Given the description of an element on the screen output the (x, y) to click on. 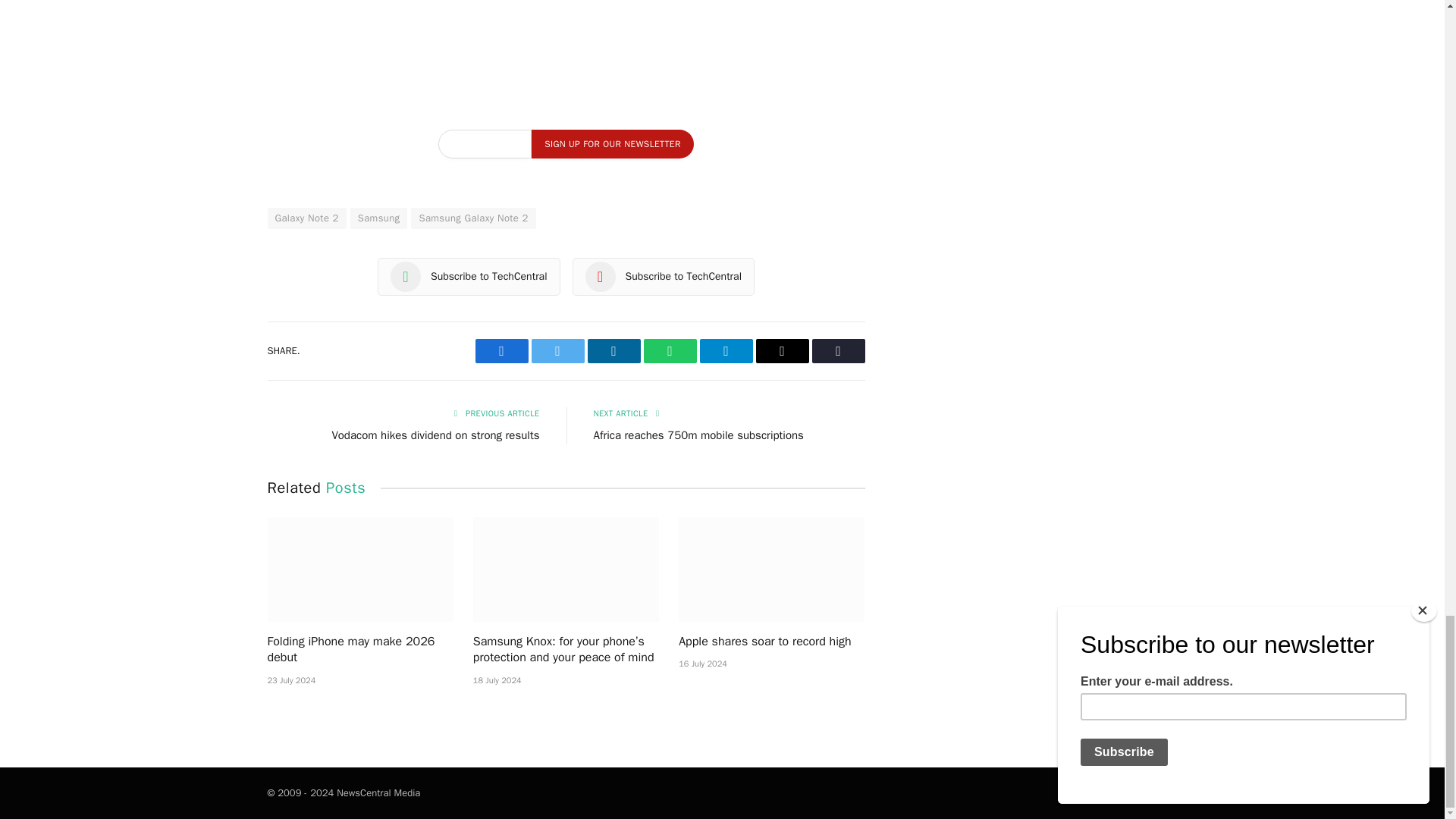
Sign up for our newsletter (612, 143)
